Given the description of an element on the screen output the (x, y) to click on. 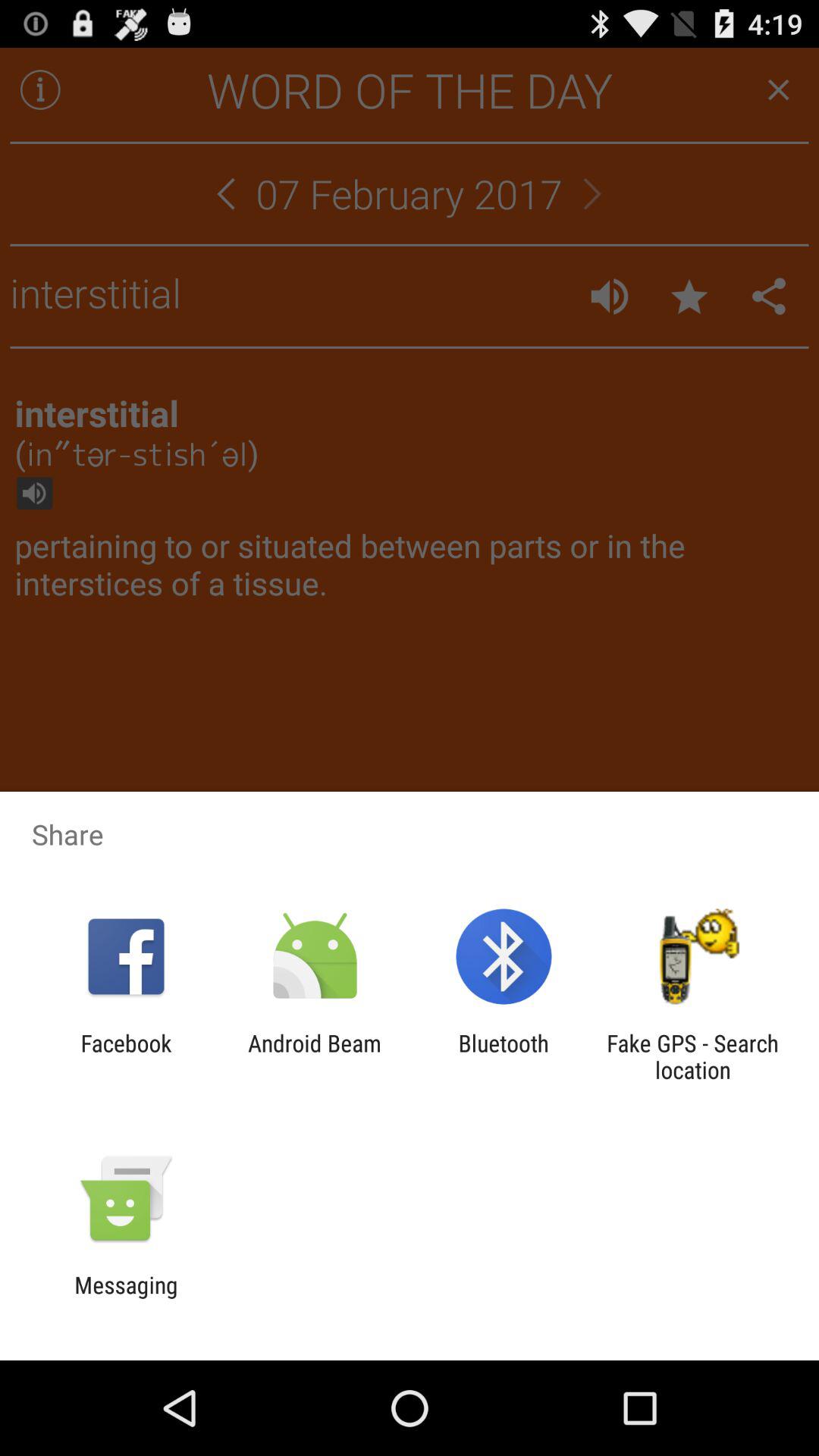
turn on messaging item (126, 1298)
